Given the description of an element on the screen output the (x, y) to click on. 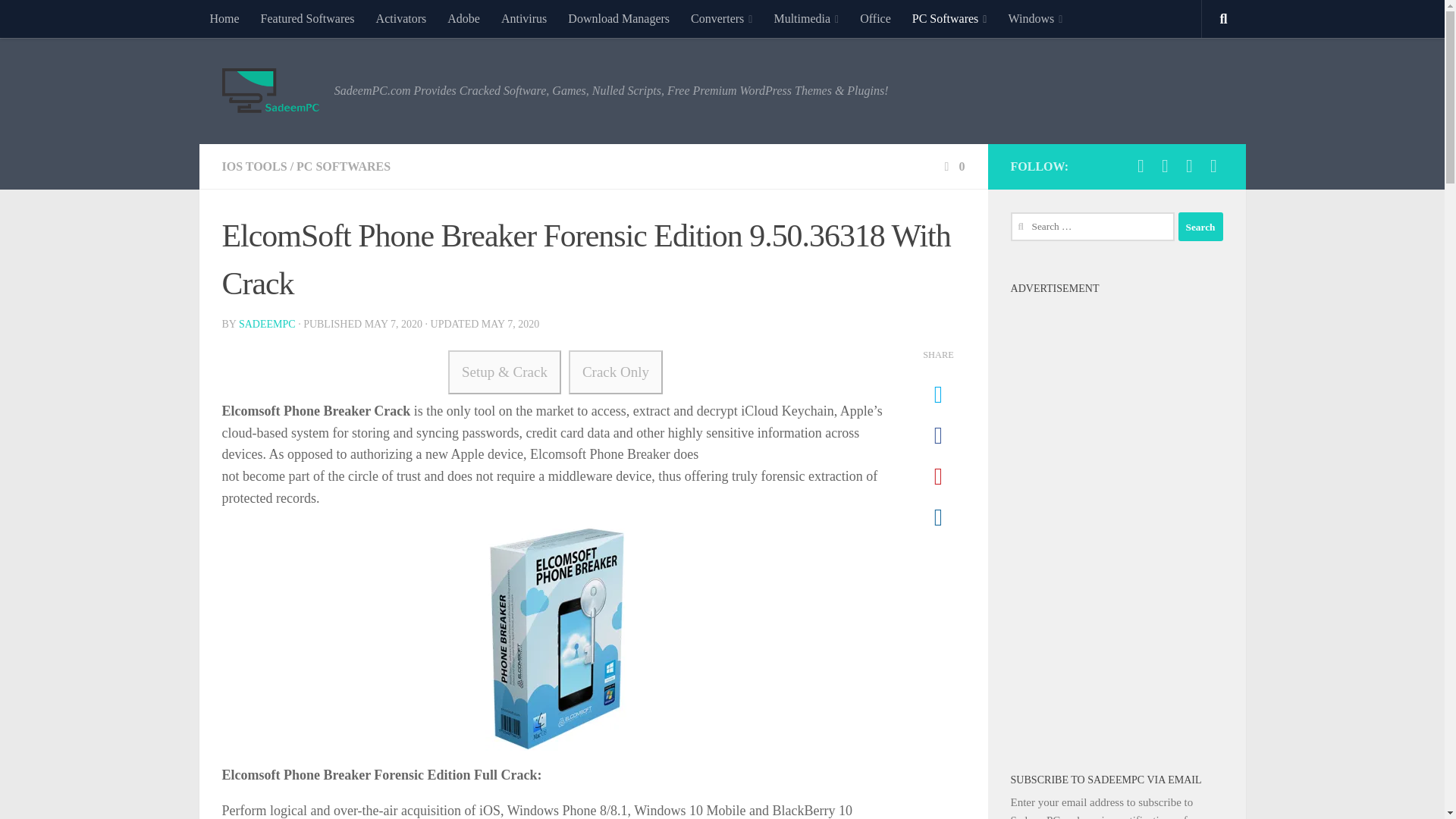
Skip to content (59, 20)
Search (1200, 226)
Search (1200, 226)
Posts by SadeemPC (266, 324)
